Given the description of an element on the screen output the (x, y) to click on. 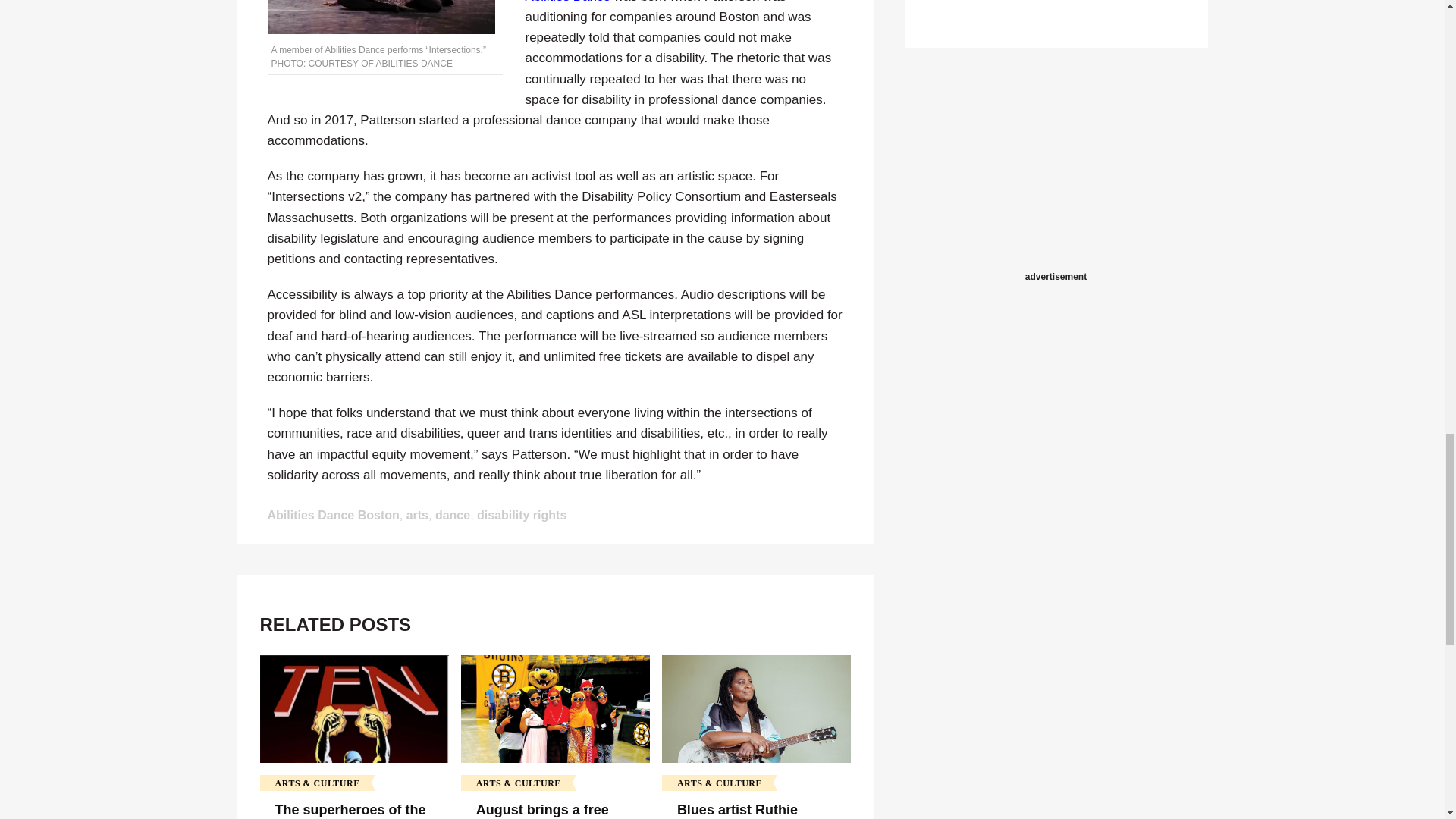
3rd party ad content (1055, 172)
